Given the description of an element on the screen output the (x, y) to click on. 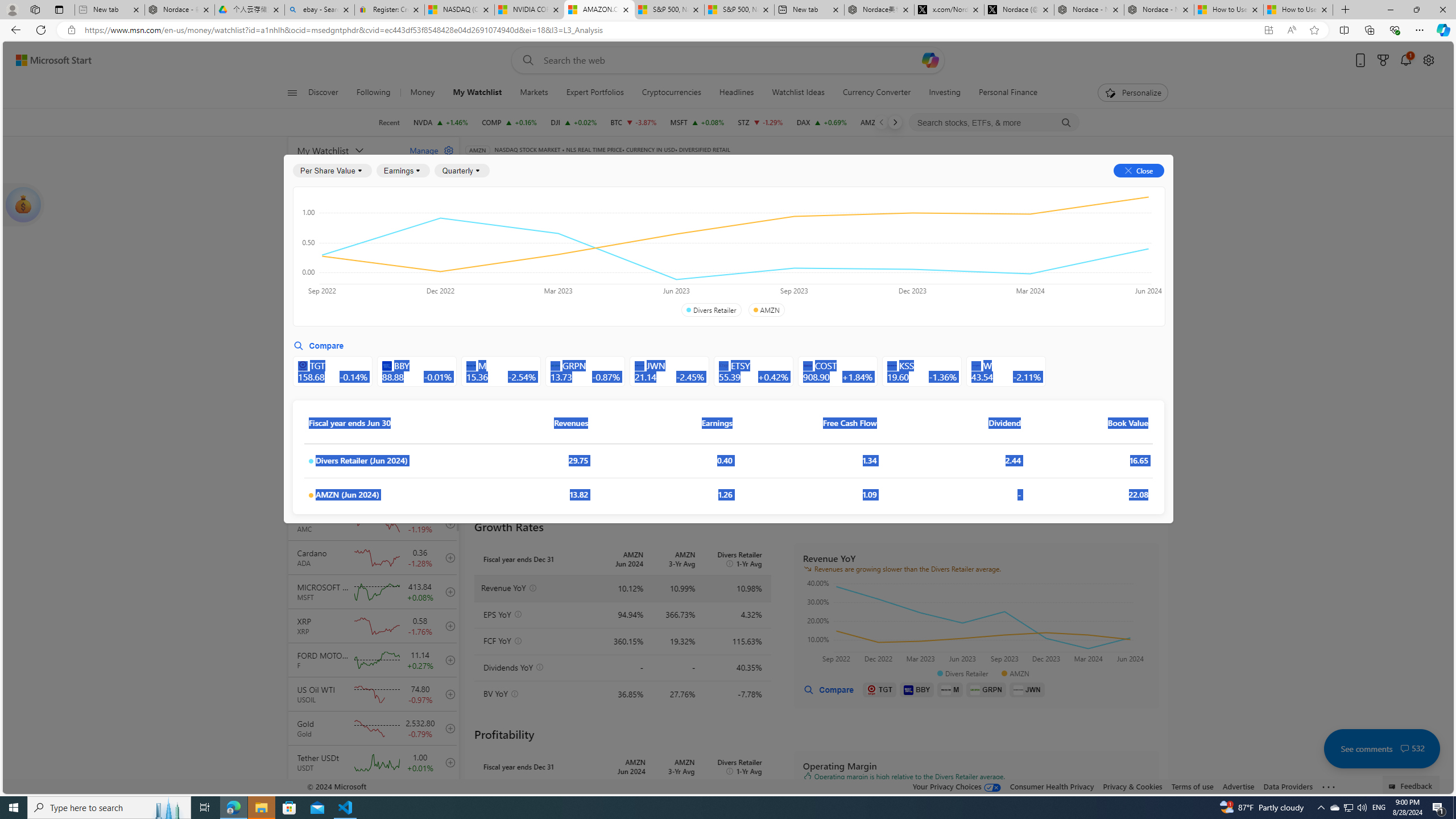
Data Providers (1288, 786)
Your Privacy Choices (956, 785)
Class: symbolDot-DS-EntryPoint1-2 (310, 495)
Personal Finance (1003, 92)
Key Ratios (493, 223)
Per Share Value (331, 170)
x.com/NordaceOfficial (949, 9)
Currency Converter (877, 92)
Class: text-DS-EntryPoint1-3 (888, 254)
STZ CONSTELLATION BRANDS, INC. decrease 239.98 -3.13 -1.29% (760, 122)
